Given the description of an element on the screen output the (x, y) to click on. 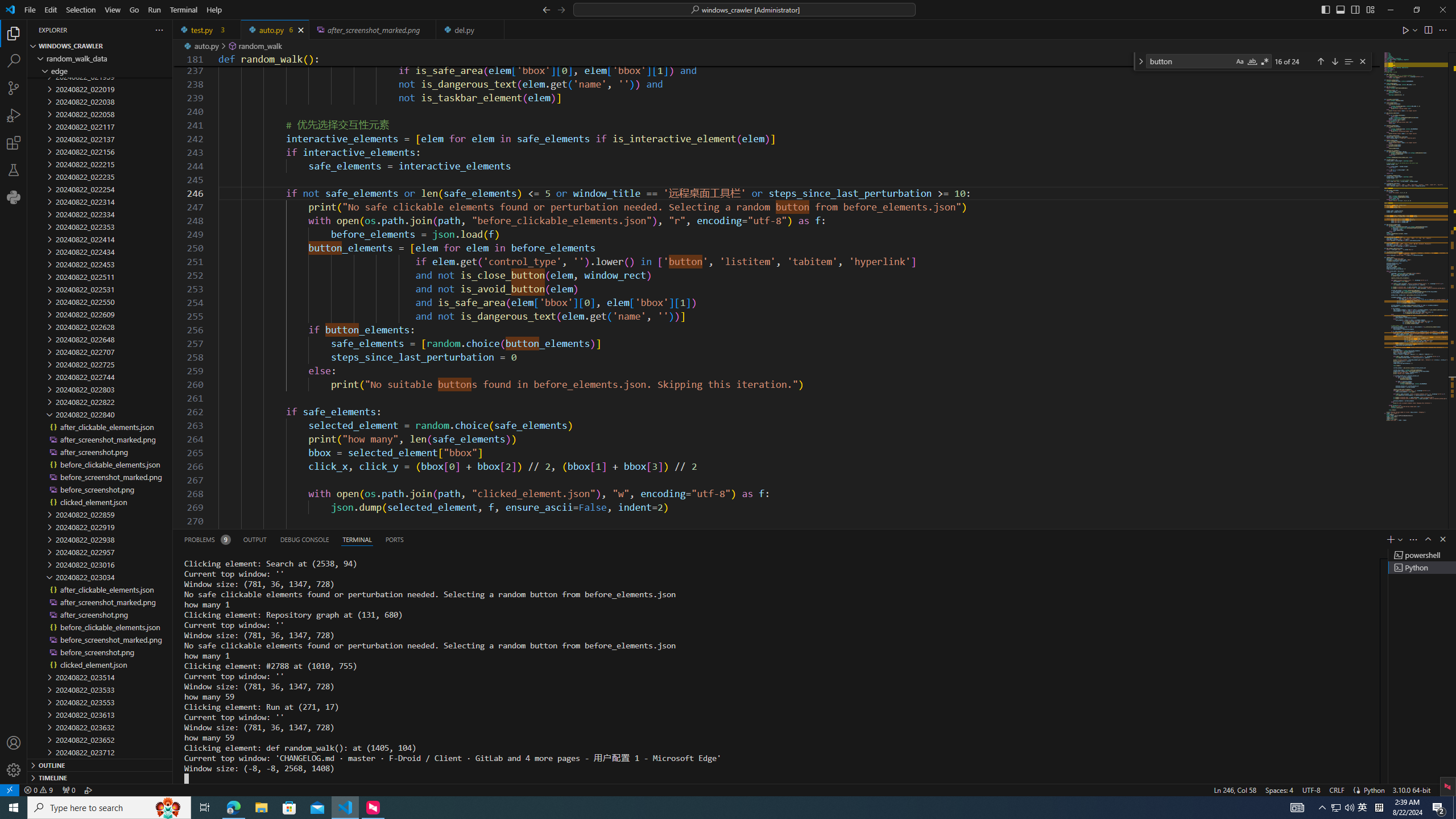
Toggle Panel (Ctrl+J) (1339, 9)
Run and Debug (Ctrl+Shift+D) (13, 115)
del.py (470, 29)
Tab actions (495, 29)
Toggle Secondary Side Bar (Ctrl+Alt+B) (1355, 9)
after_screenshot_marked.png, preview (372, 29)
More Actions... (1442, 29)
Selection (80, 9)
Toggle Replace (1140, 61)
No Ports Forwarded (68, 789)
Python (13, 197)
Edit (50, 9)
